Given the description of an element on the screen output the (x, y) to click on. 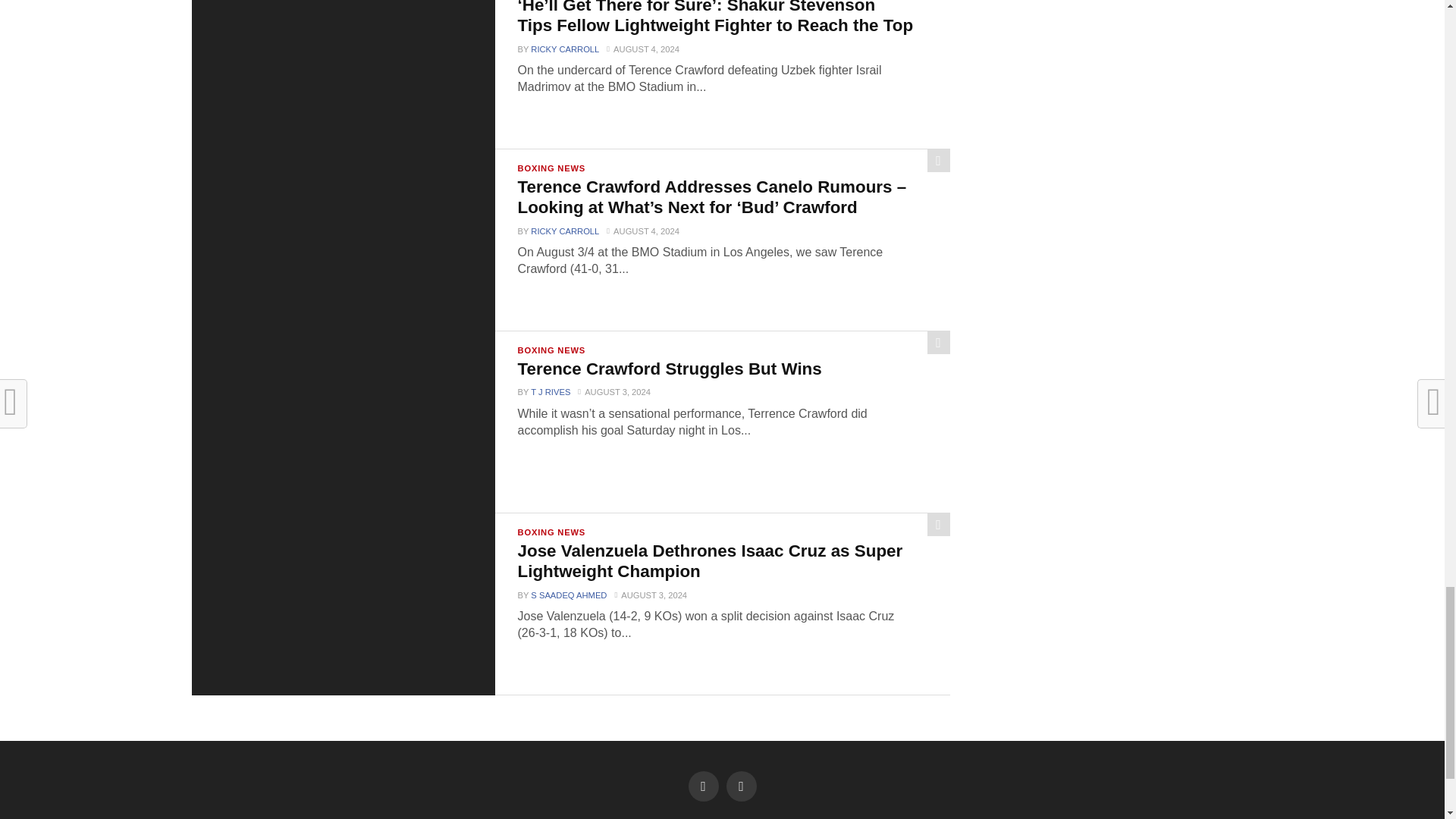
Posts by Ricky Carroll (564, 49)
